Given the description of an element on the screen output the (x, y) to click on. 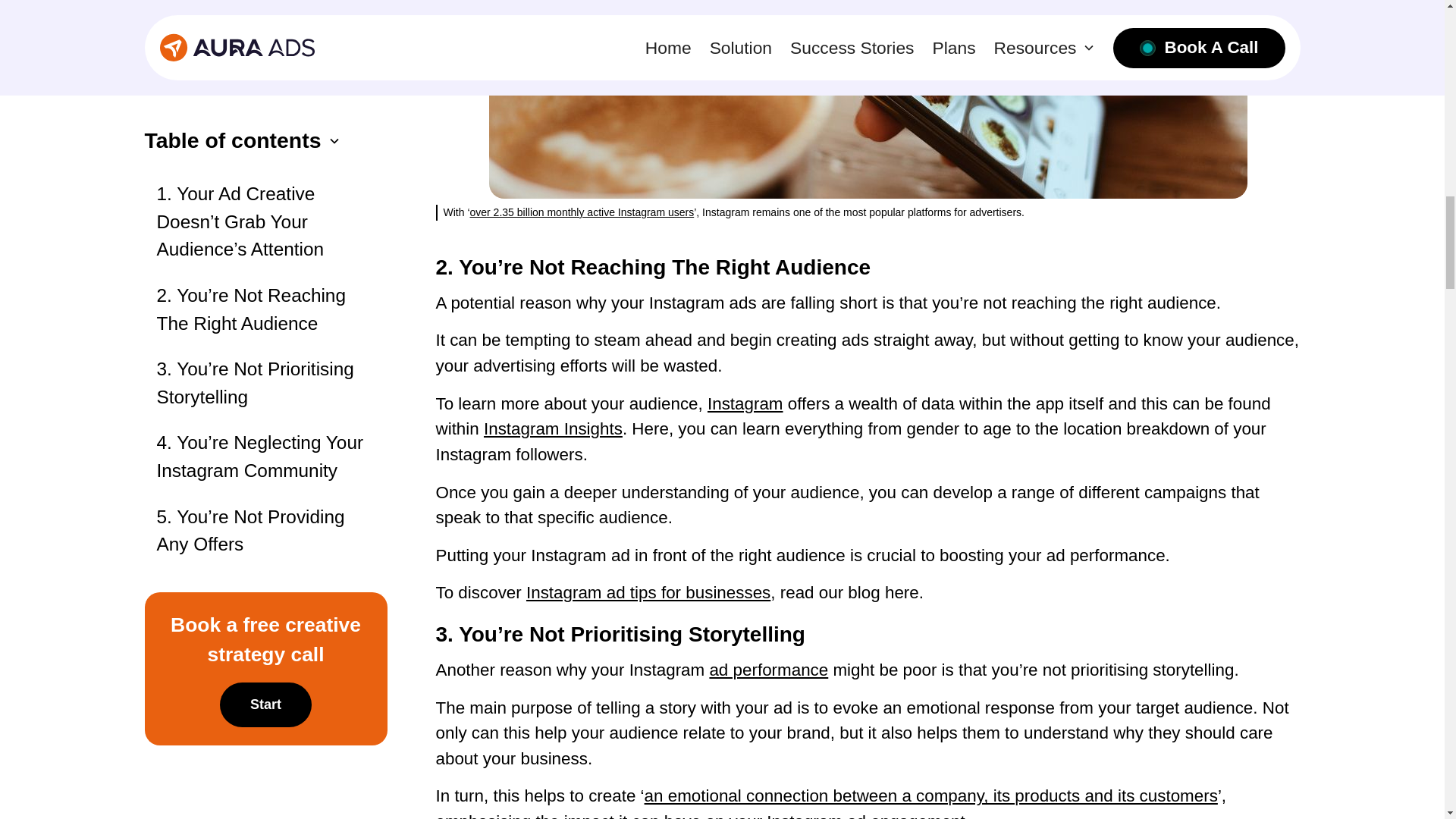
Instagram (745, 403)
Instagram Insights (553, 428)
ad performance (768, 669)
over 2.35 billion monthly active Instagram users (582, 212)
Instagram ad tips for businesses (647, 592)
engagement. (919, 815)
